Given the description of an element on the screen output the (x, y) to click on. 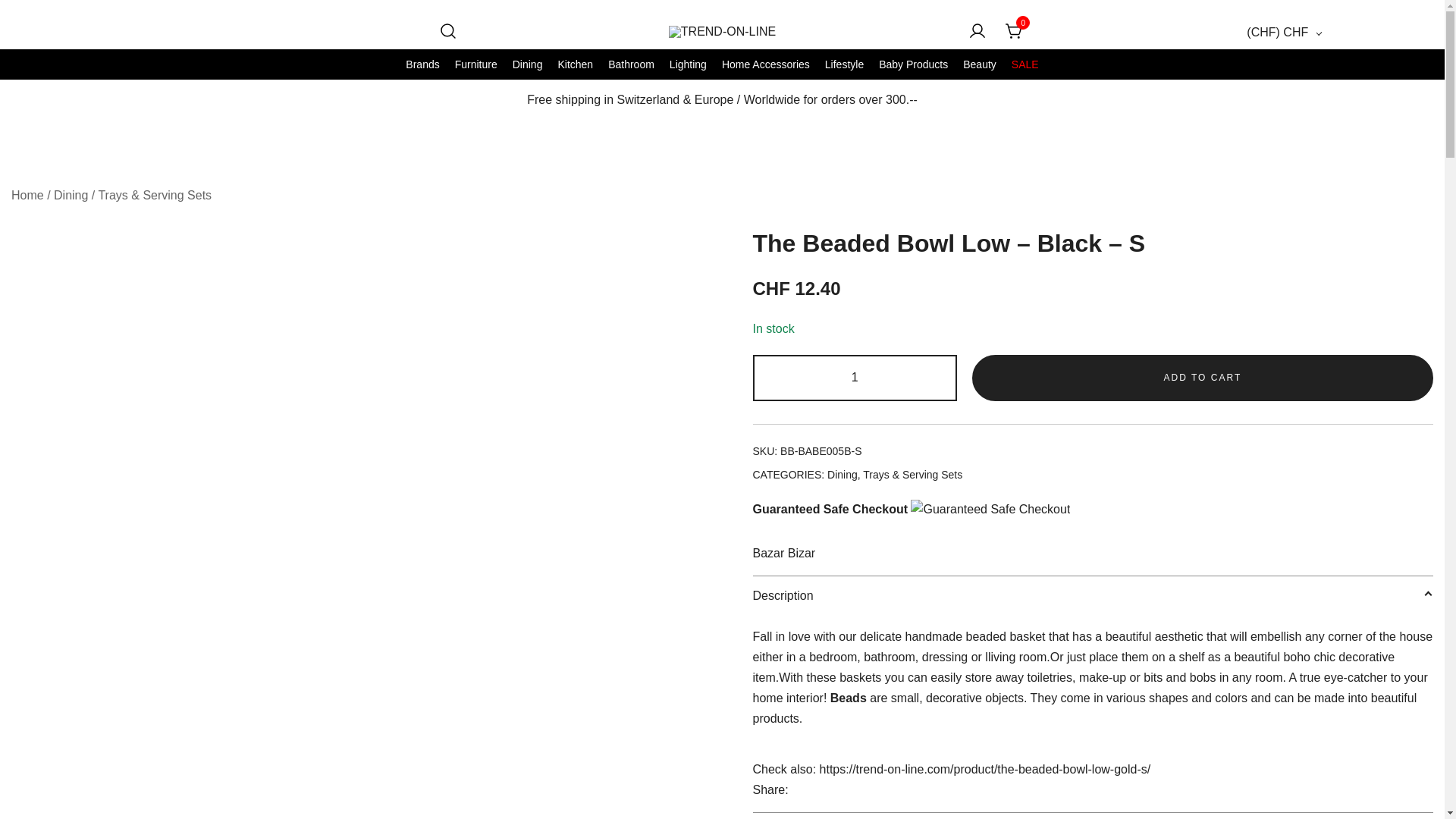
View your shopping cart (1014, 31)
Furniture (475, 64)
Search for a product (448, 32)
0 (1014, 31)
1 (854, 377)
TREND-ON-LINE (728, 58)
Brands (421, 64)
